Given the description of an element on the screen output the (x, y) to click on. 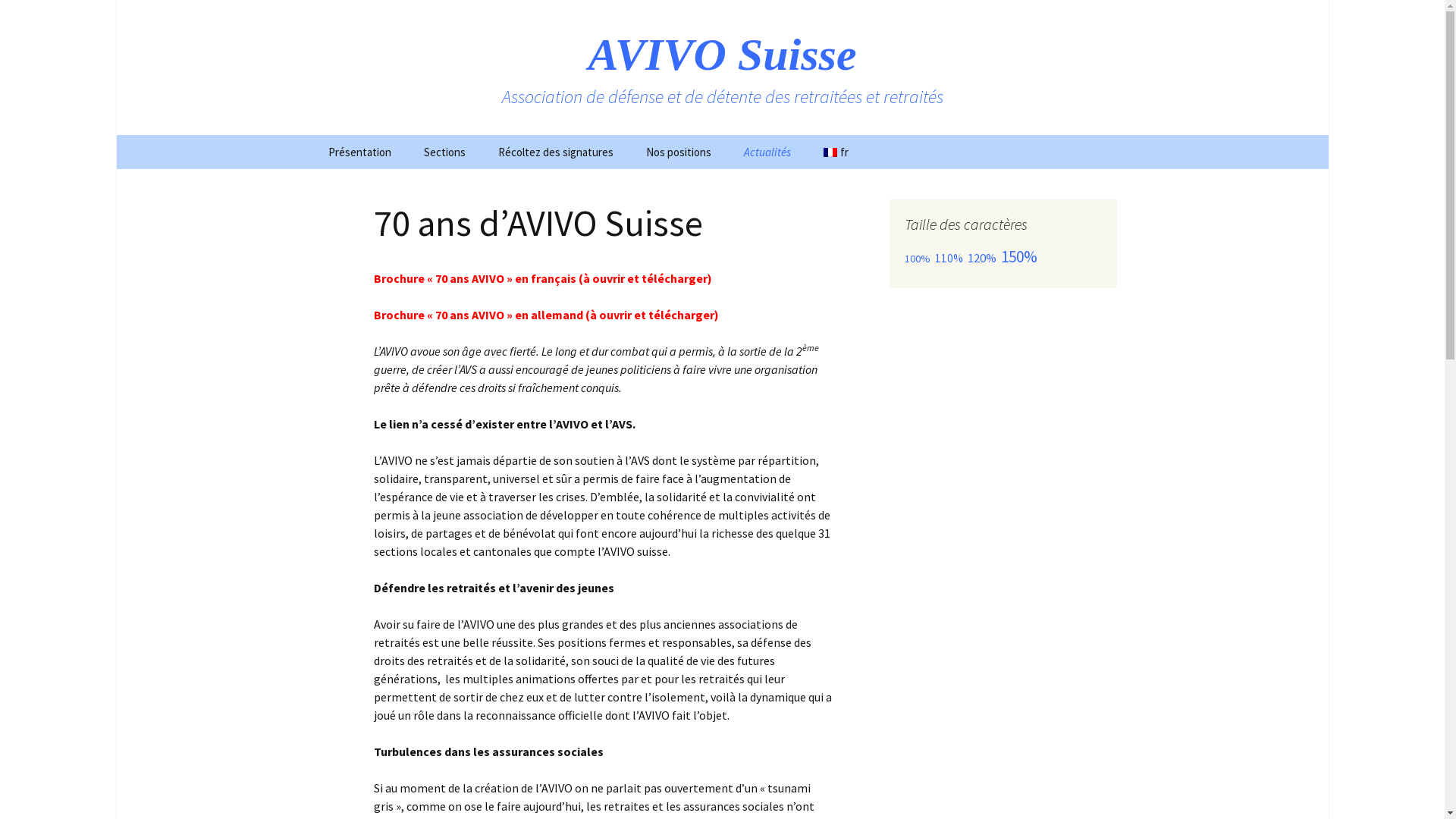
Recommandations de vote Element type: text (705, 191)
Sections Element type: text (443, 151)
Nos positions Element type: text (678, 151)
110% Element type: text (948, 258)
150% Element type: text (1019, 256)
Aller au contenu Element type: text (312, 134)
fr Element type: text (835, 151)
100% Element type: text (916, 258)
120% Element type: text (981, 257)
